Given the description of an element on the screen output the (x, y) to click on. 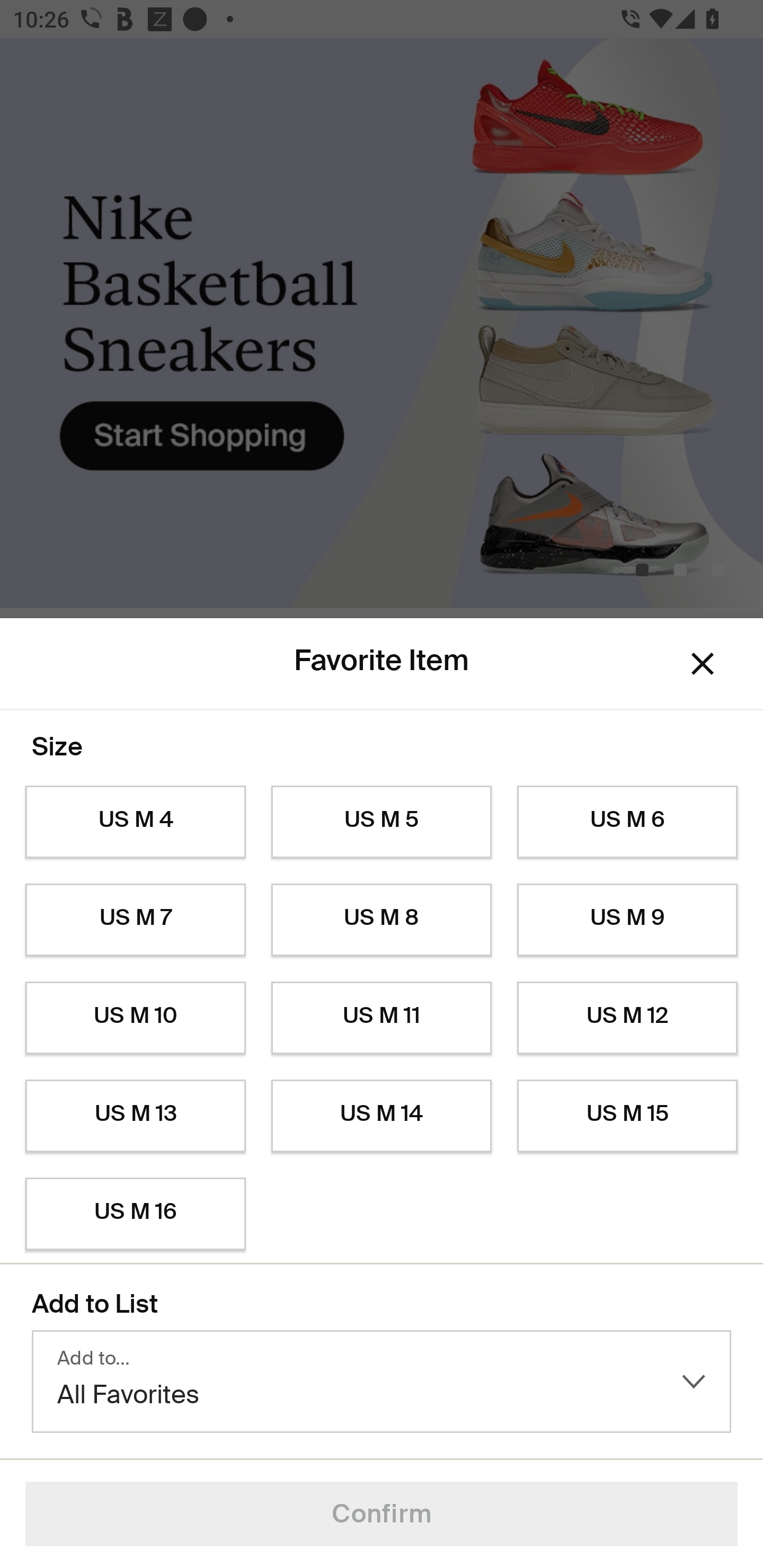
Dismiss (702, 663)
US M 4 (135, 822)
US M 5 (381, 822)
US M 6 (627, 822)
US M 7 (135, 919)
US M 8 (381, 919)
US M 9 (627, 919)
US M 10 (135, 1018)
US M 11 (381, 1018)
US M 12 (627, 1018)
US M 13 (135, 1116)
US M 14 (381, 1116)
US M 15 (627, 1116)
US M 16 (135, 1214)
Add to… All Favorites (381, 1381)
Confirm (381, 1513)
